Given the description of an element on the screen output the (x, y) to click on. 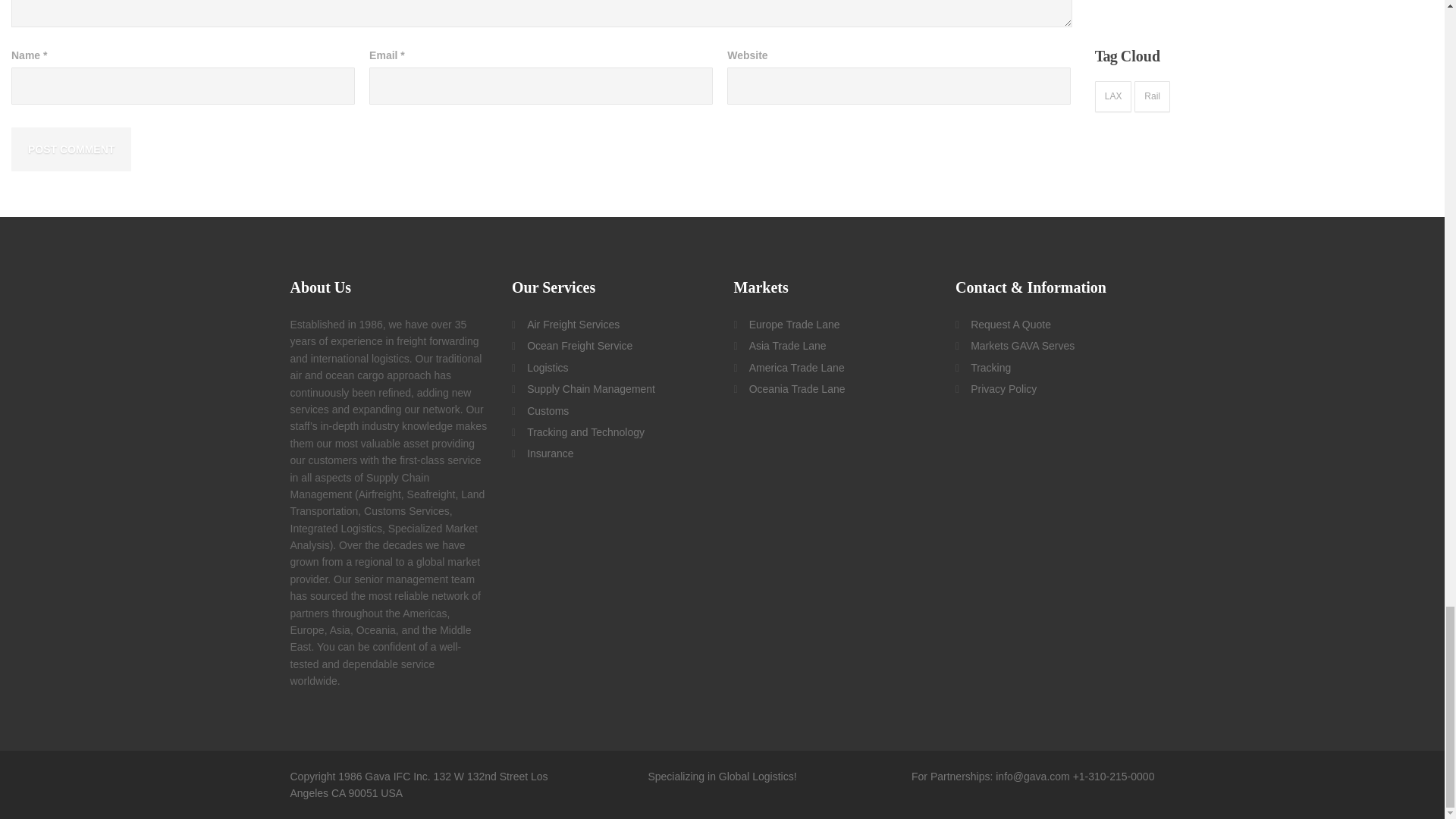
Post Comment (71, 149)
Facebook Page Plugin (1208, 2)
Post Comment (71, 149)
